Given the description of an element on the screen output the (x, y) to click on. 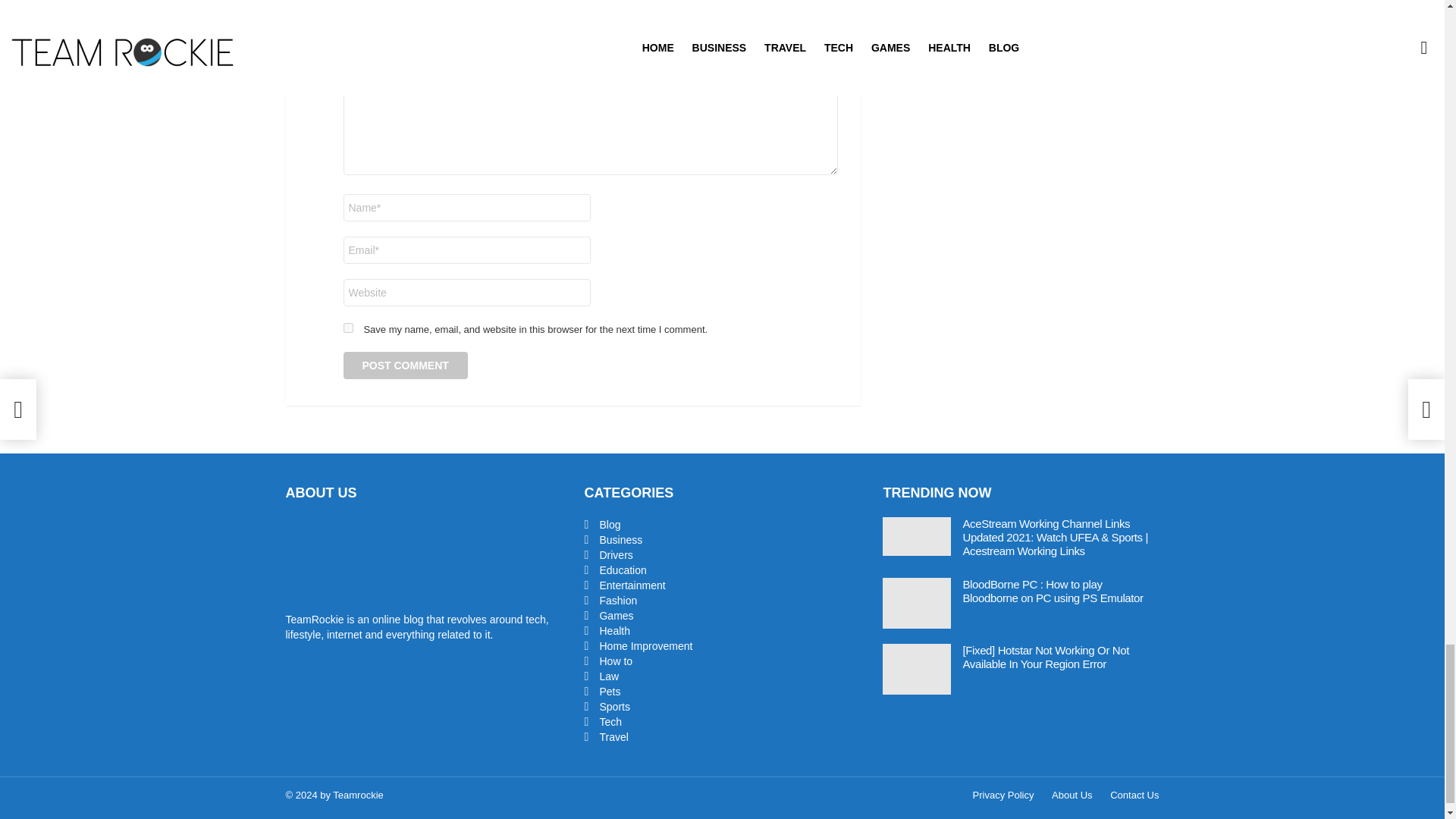
yes (347, 327)
Post Comment (404, 365)
